Given the description of an element on the screen output the (x, y) to click on. 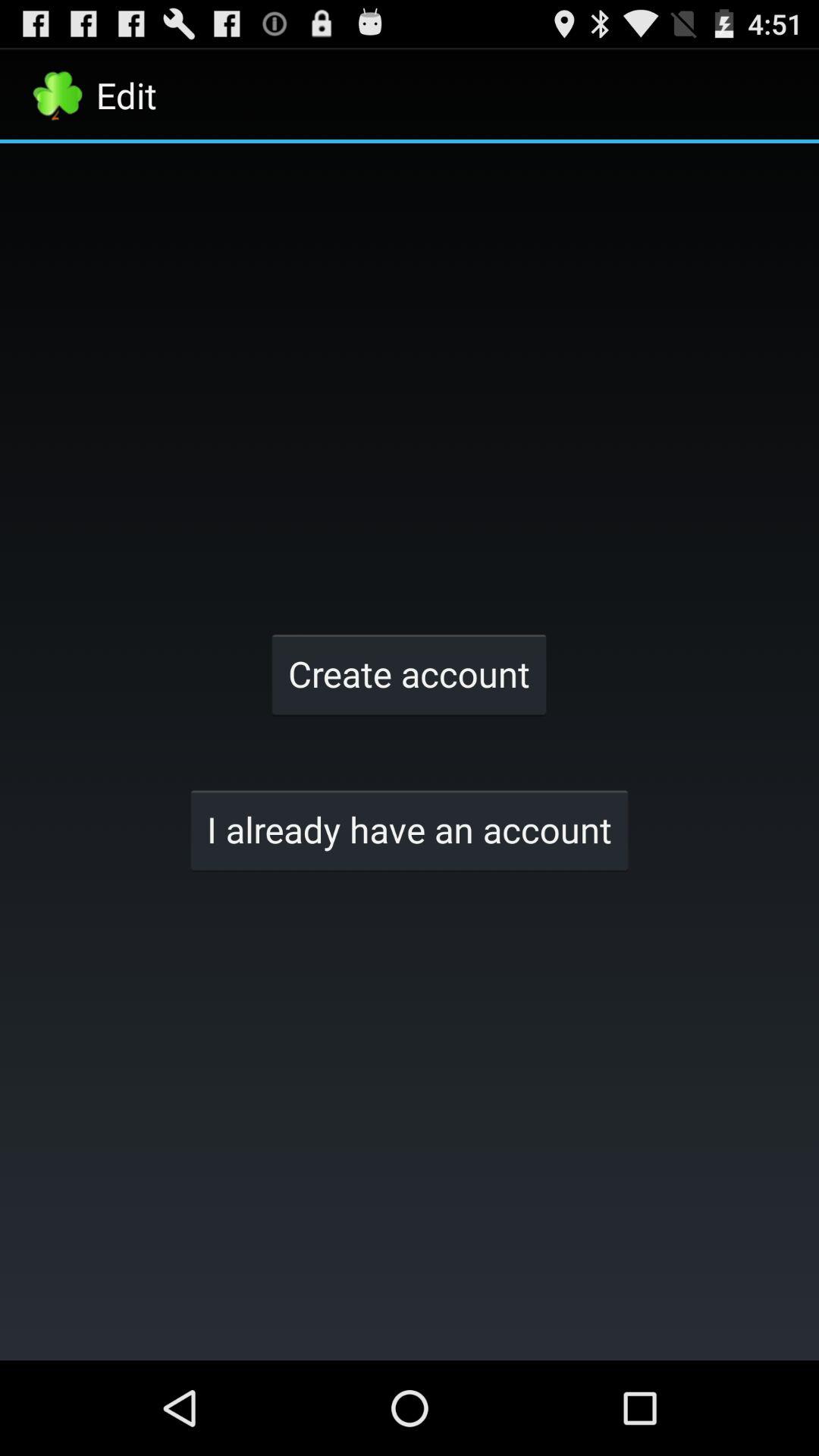
turn off i already have item (409, 829)
